Given the description of an element on the screen output the (x, y) to click on. 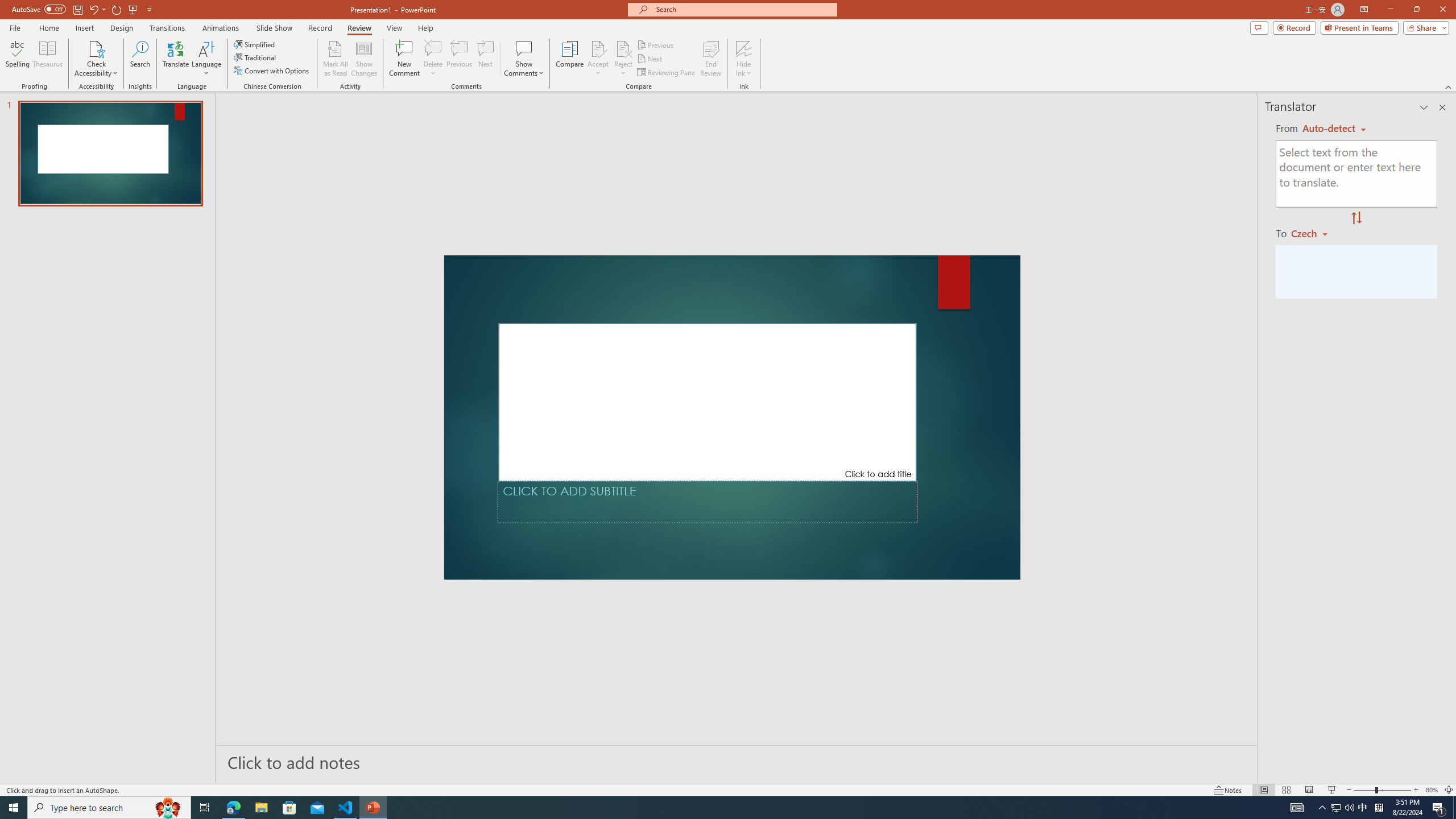
Czech (1313, 232)
Show Changes (363, 58)
Reject Change (622, 48)
Translate (175, 58)
Next (649, 58)
Accept (598, 58)
